Given the description of an element on the screen output the (x, y) to click on. 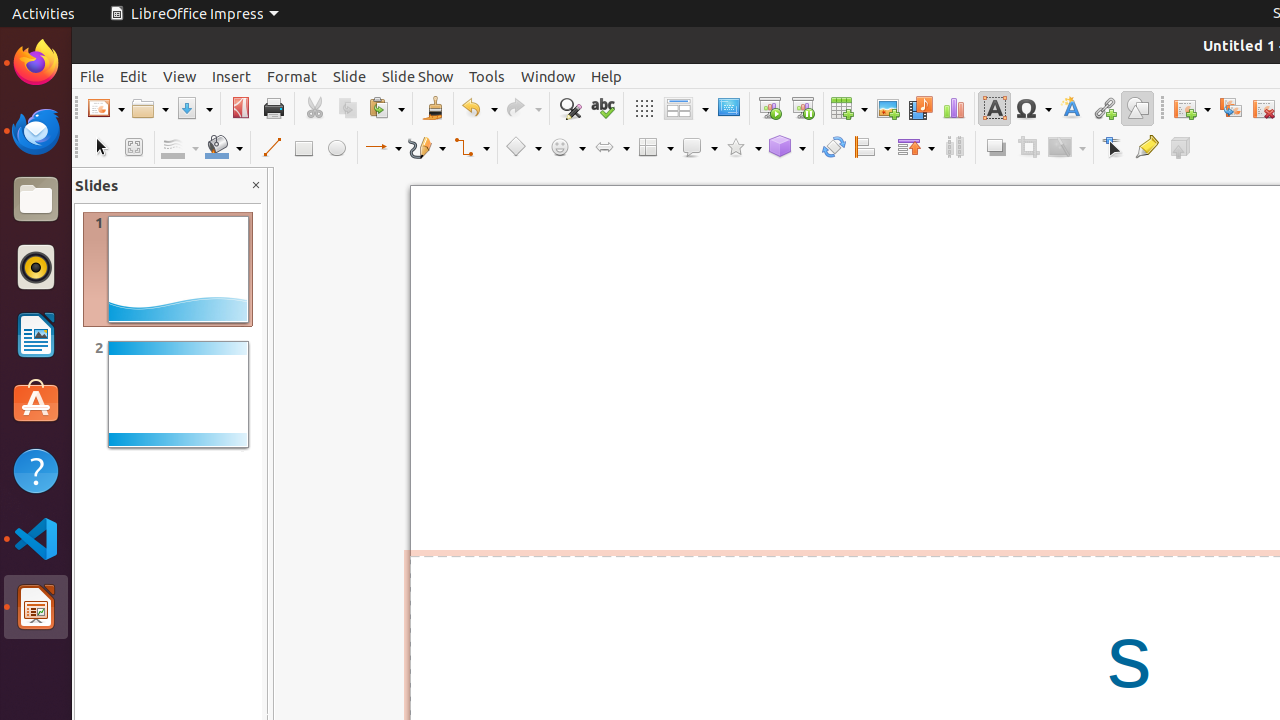
Rectangle Element type: push-button (303, 147)
Arrange Element type: push-button (916, 147)
Ellipse Element type: push-button (336, 147)
Image Element type: push-button (887, 108)
